Given the description of an element on the screen output the (x, y) to click on. 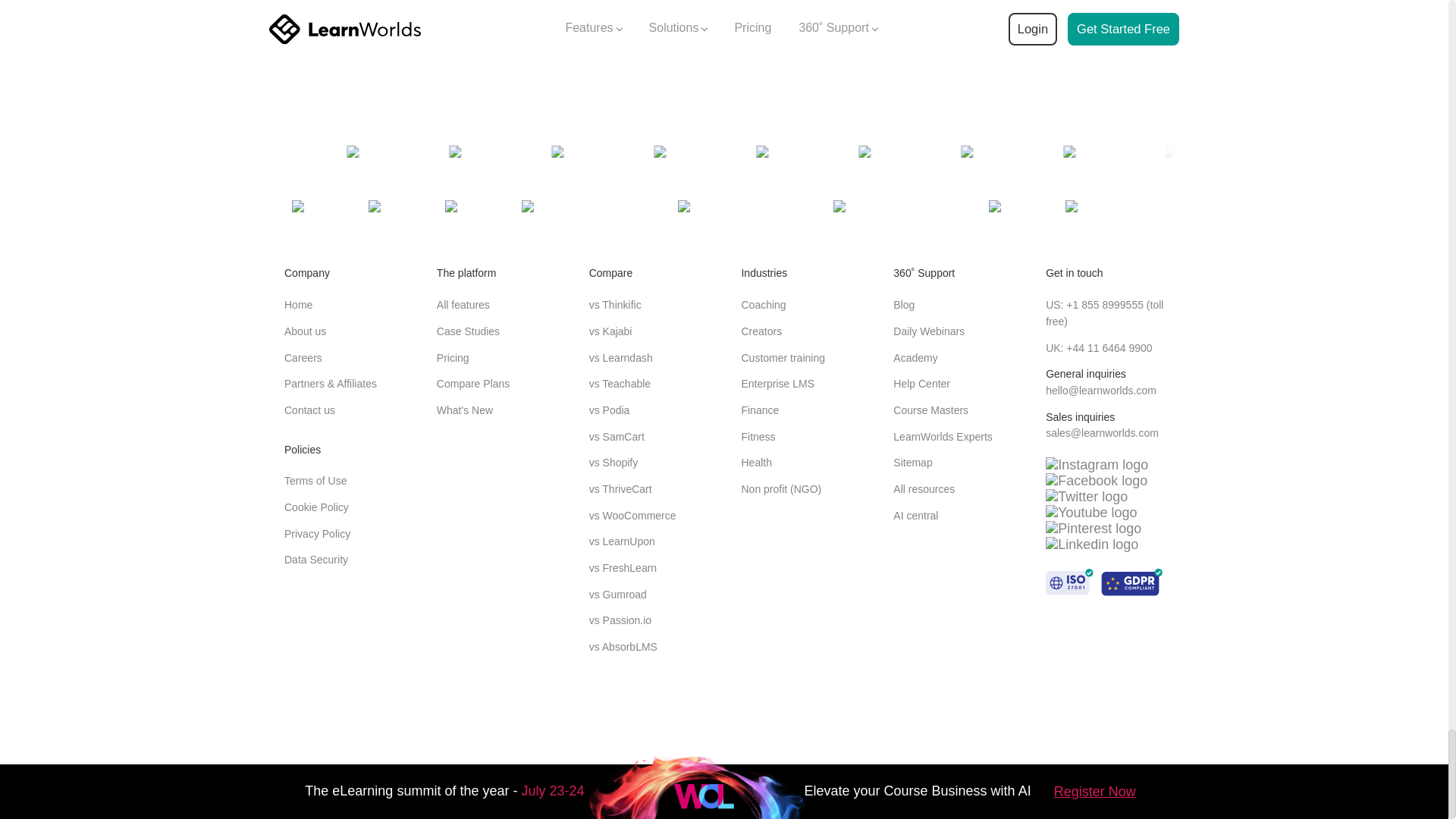
send email to LearnWorlds (1101, 432)
send email to LearnWorlds (1100, 390)
